Given the description of an element on the screen output the (x, y) to click on. 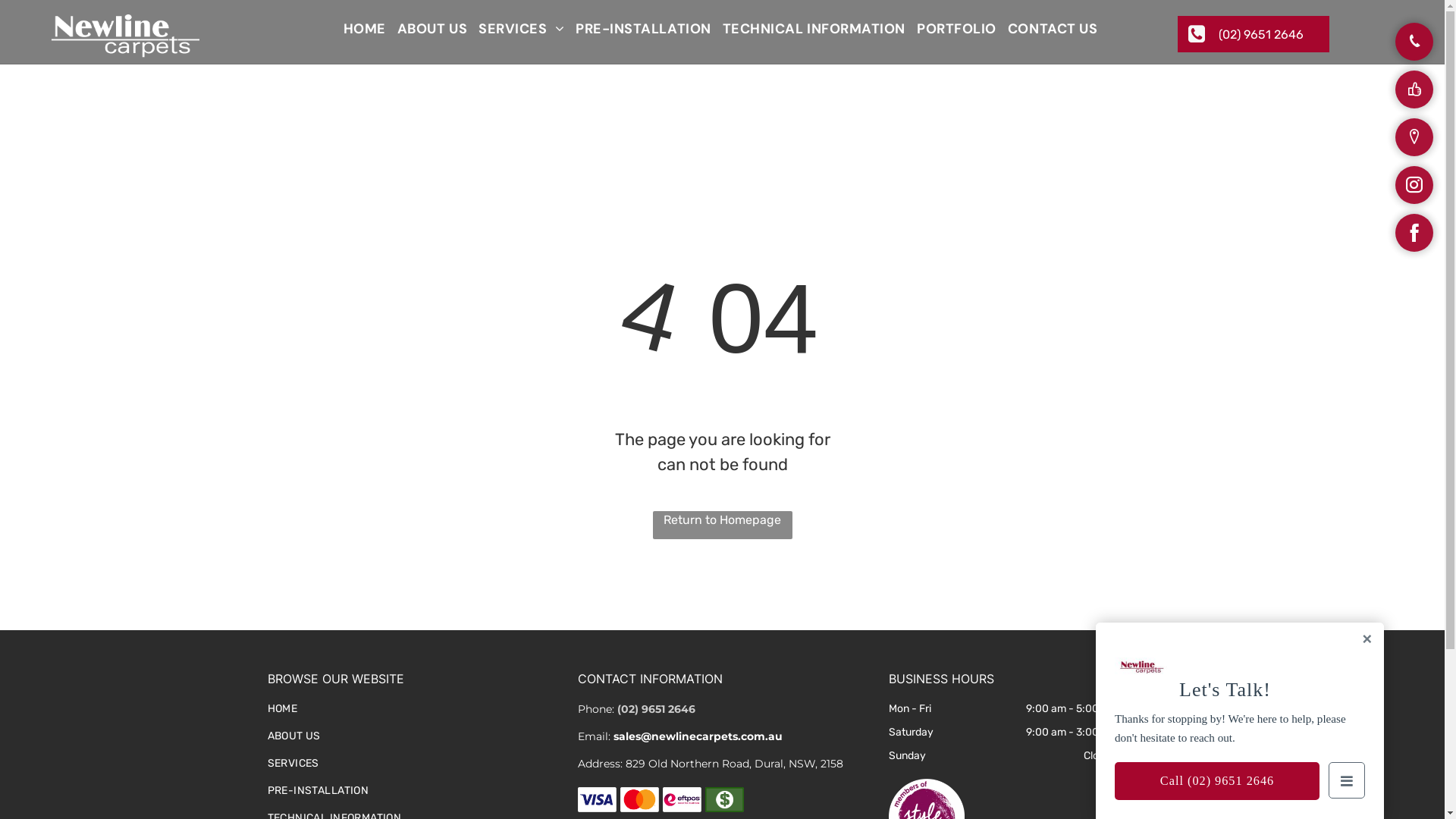
(02) 9651 2646 Element type: text (656, 708)
sales@newlinecarpets.com.au Element type: text (697, 736)
PRE-INSTALLATION Element type: text (410, 784)
HOME Element type: text (410, 702)
SERVICES Element type: text (410, 757)
CONTACT US Element type: text (1046, 28)
HOME Element type: text (358, 28)
TECHNICAL INFORMATION Element type: text (808, 28)
Newline Carpets Element type: hover (124, 36)
Call (02) 9651 2646 Element type: text (1216, 781)
ABOUT US Element type: text (426, 28)
ABOUT US Element type: text (410, 729)
PRE-INSTALLATION Element type: text (637, 28)
(02) 9651 2646 Element type: text (1253, 33)
Return to Homepage Element type: text (721, 525)
SERVICES Element type: text (515, 28)
PORTFOLIO Element type: text (950, 28)
